Given the description of an element on the screen output the (x, y) to click on. 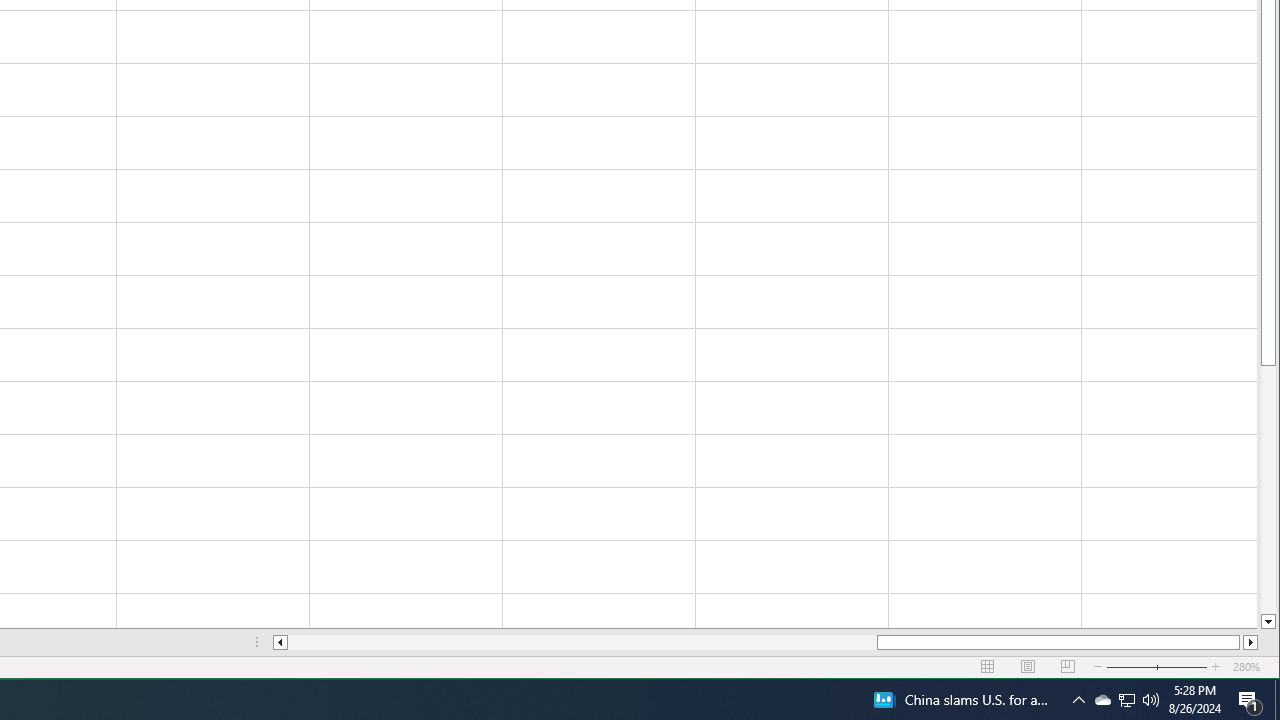
Action Center, 1 new notification (1250, 699)
User Promoted Notification Area (1102, 699)
Q2790: 100% (1126, 699)
